Given the description of an element on the screen output the (x, y) to click on. 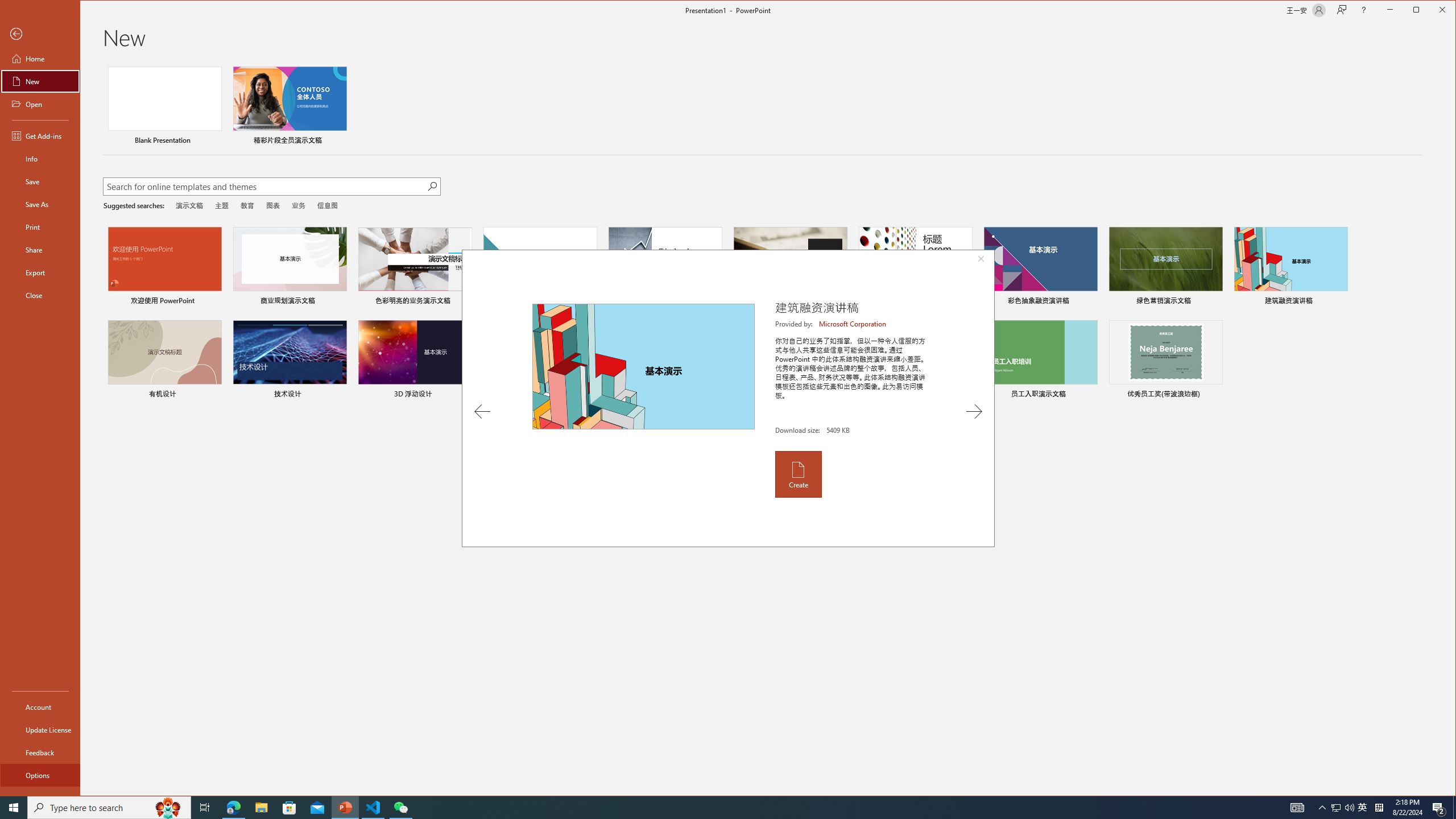
Microsoft Edge - 1 running window (233, 807)
Account (40, 706)
